Given the description of an element on the screen output the (x, y) to click on. 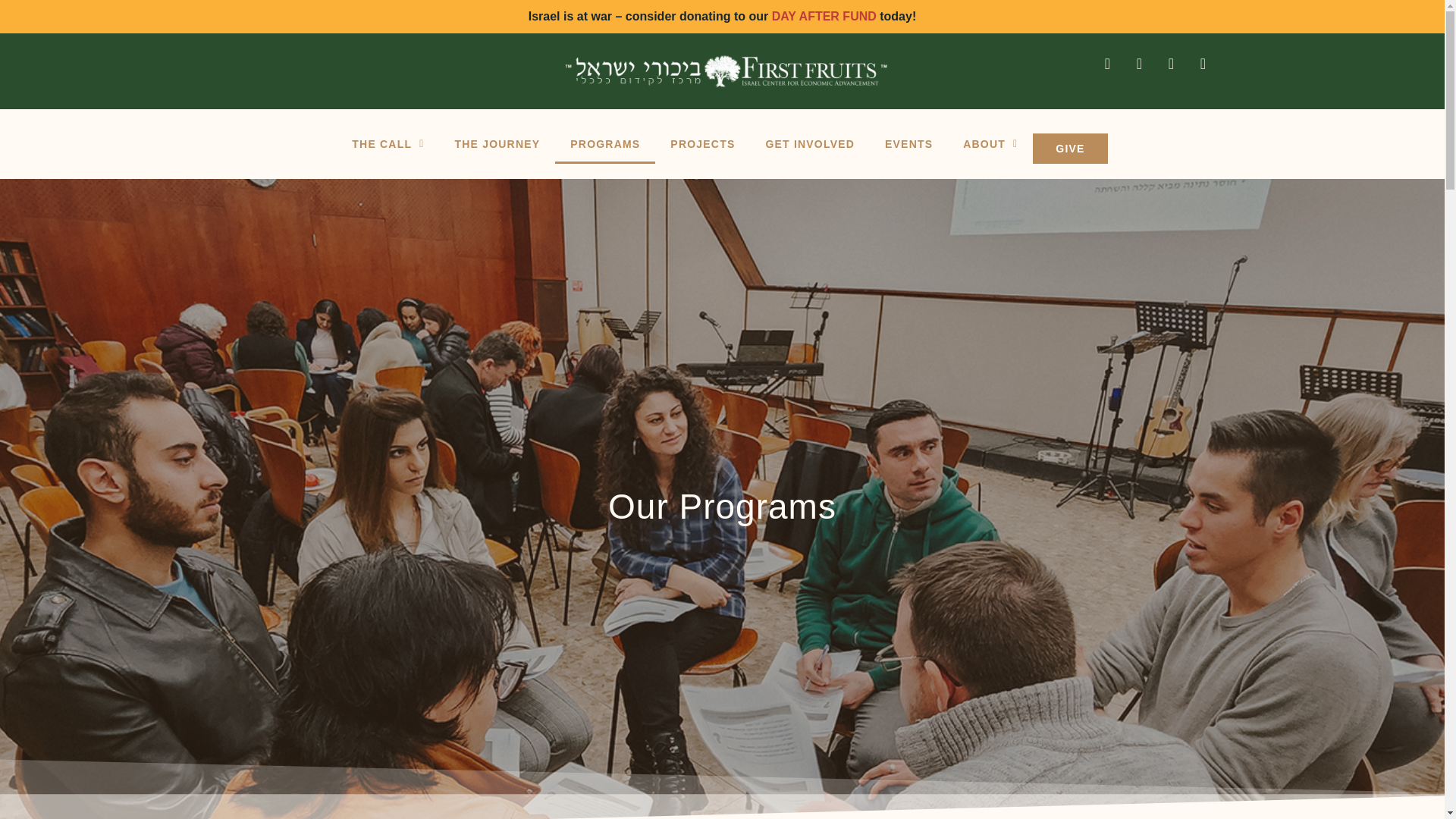
PROJECTS (702, 143)
GIVE (1069, 148)
THE JOURNEY (497, 143)
GET INVOLVED (809, 143)
THE CALL (387, 143)
ABOUT (989, 143)
EVENTS (908, 143)
PROGRAMS (604, 143)
DAY AFTER FUND (823, 15)
